Given the description of an element on the screen output the (x, y) to click on. 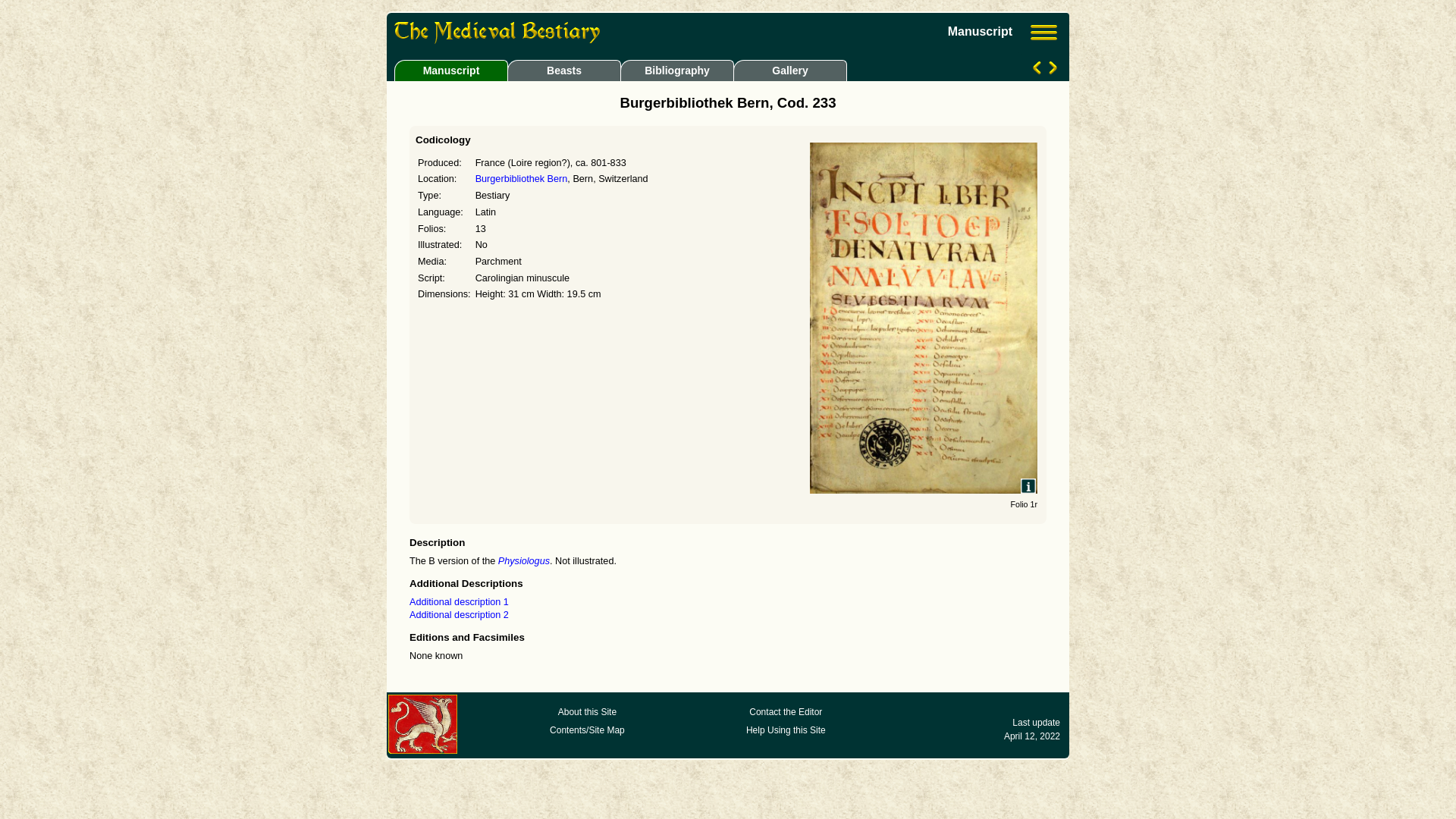
Contents/Site Map Element type: text (586, 729)
Next manuscript Element type: hover (1050, 70)
Contact the Editor Element type: text (785, 711)
Image information Element type: hover (1027, 485)
Help Using this Site Element type: text (785, 729)
Gallery Element type: text (787, 69)
Additional description 1 Element type: text (458, 601)
Additional description 2 Element type: text (458, 614)
Beasts Element type: text (563, 69)
Burgerbibliothek Bern Element type: text (521, 178)
Previous manuscript Element type: hover (1038, 70)
Physiologus Element type: text (523, 560)
Bibliography Element type: text (676, 69)
About this Site Element type: text (587, 711)
